Given the description of an element on the screen output the (x, y) to click on. 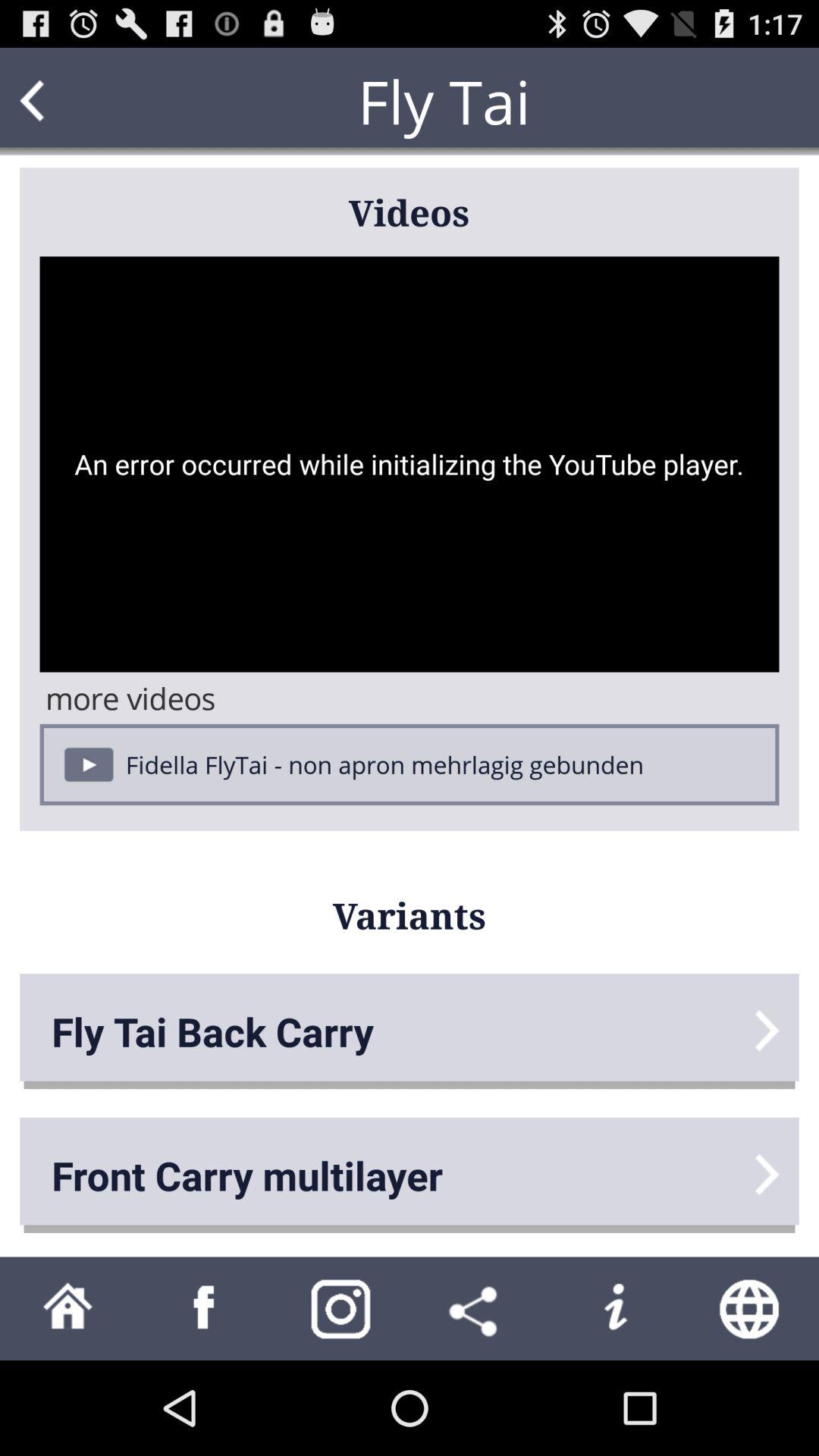
get more information (614, 1308)
